Given the description of an element on the screen output the (x, y) to click on. 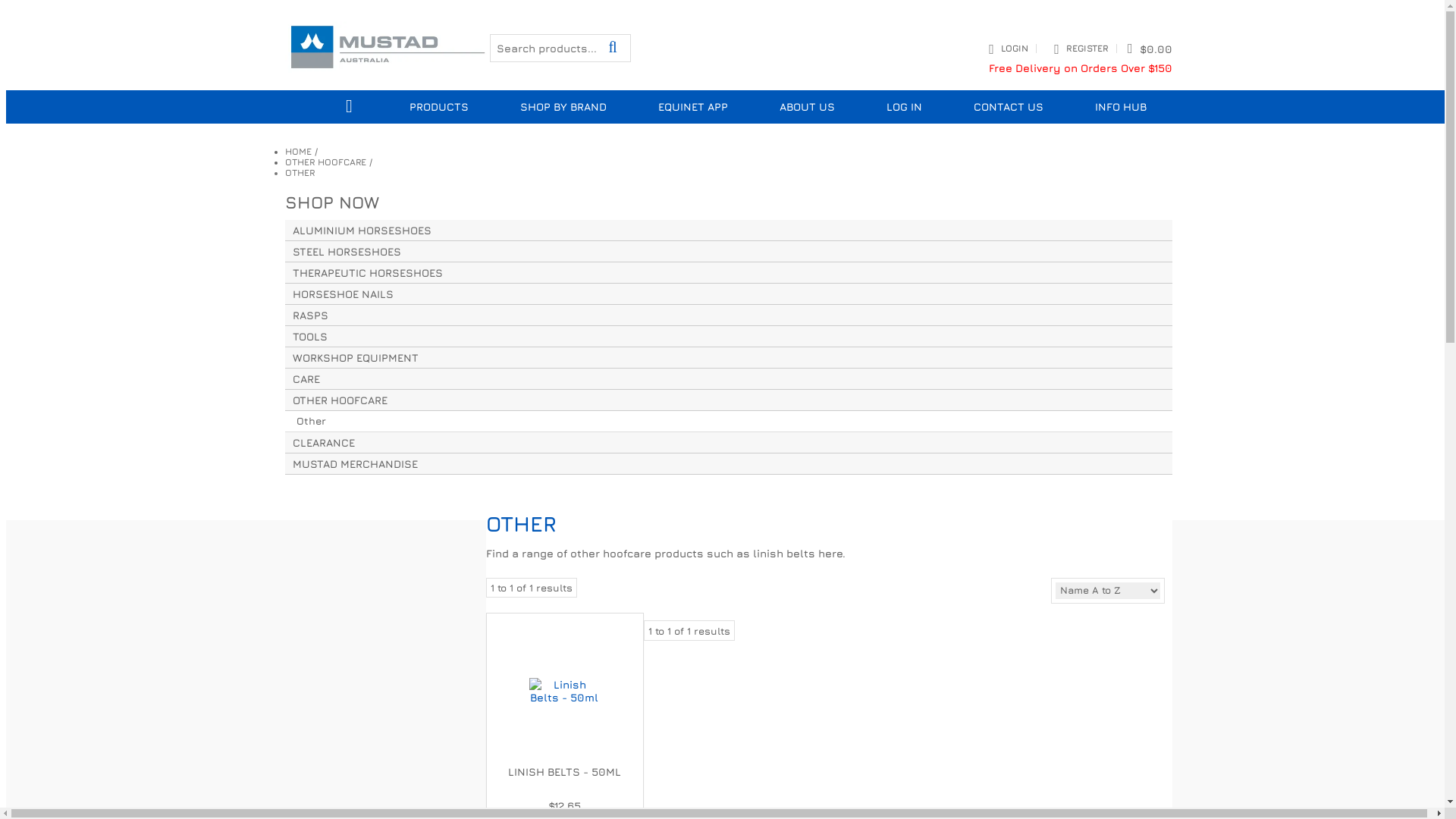
Search Element type: text (616, 47)
LINISH BELTS - 50ML Element type: text (564, 771)
THERAPEUTIC HORSESHOES Element type: text (728, 272)
WORKSHOP EQUIPMENT Element type: text (728, 357)
Free Delivery on Orders Over $150 Element type: text (1080, 67)
HORSESHOE NAILS Element type: text (728, 293)
INFO HUB Element type: text (1120, 106)
Other Element type: text (728, 421)
ALUMINIUM HORSESHOES Element type: text (728, 230)
Mustad Australia Logo Element type: hover (387, 68)
EQUINET APP Element type: text (692, 106)
REGISTER Element type: text (1087, 48)
STEEL HORSESHOES Element type: text (728, 251)
SHOP BY BRAND Element type: text (563, 106)
OTHER HOOFCARE Element type: text (325, 161)
HOME Element type: text (349, 106)
LOG IN Element type: text (903, 106)
MUSTAD MERCHANDISE Element type: text (728, 463)
RASPS Element type: text (728, 315)
$0.00 Element type: text (1149, 48)
PRODUCTS Element type: text (438, 106)
CARE Element type: text (728, 378)
LOGIN Element type: text (1014, 48)
OTHER HOOFCARE Element type: text (728, 400)
TOOLS Element type: text (728, 336)
ABOUT US Element type: text (806, 106)
Linish Belts - 50ml Element type: hover (564, 690)
CLEARANCE Element type: text (728, 442)
HOME Element type: text (298, 151)
CONTACT US Element type: text (1008, 106)
